Given the description of an element on the screen output the (x, y) to click on. 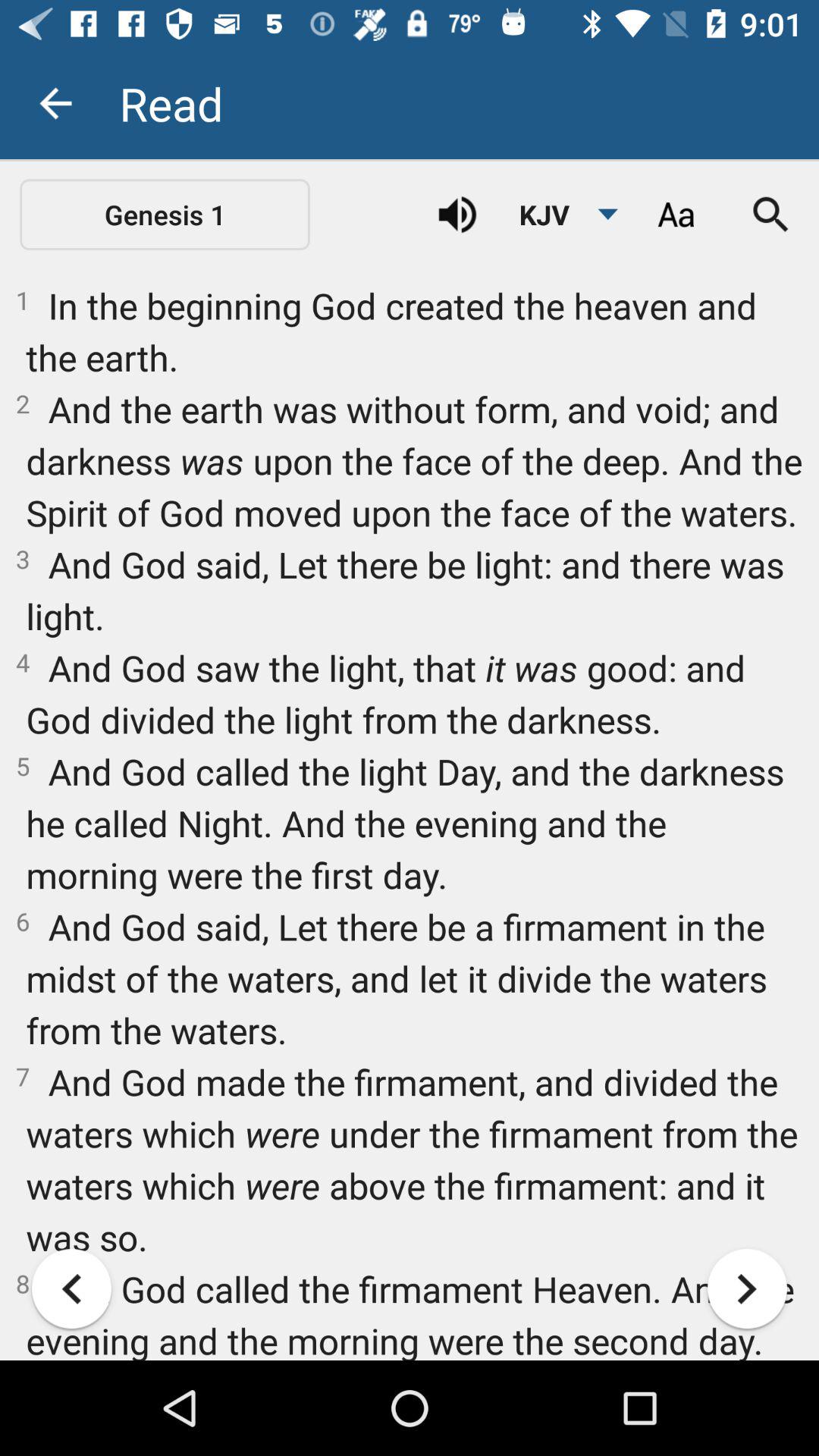
press the icon below the 6 and god item (71, 1288)
